Given the description of an element on the screen output the (x, y) to click on. 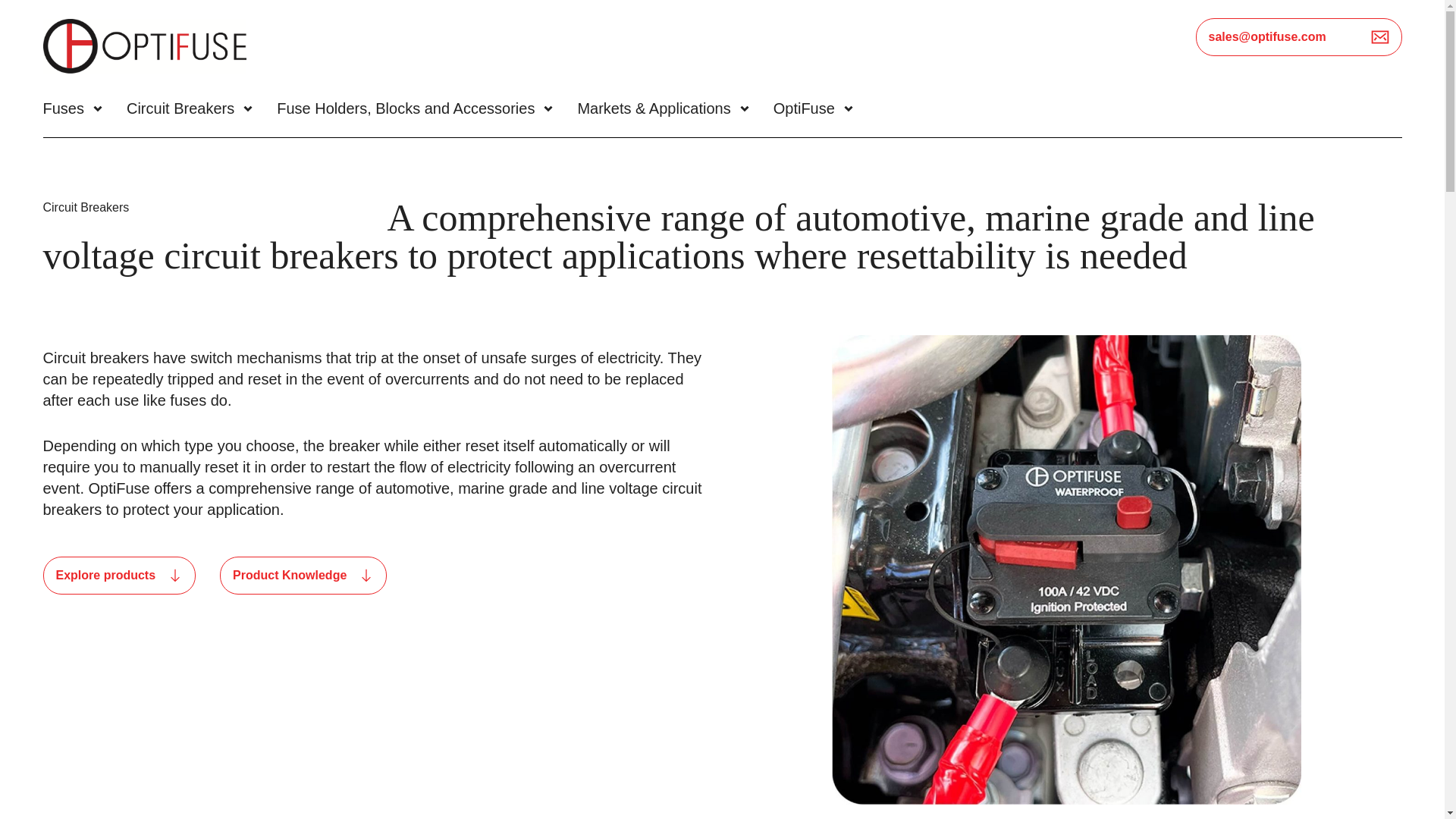
Product Knowledge (303, 575)
Explore products (118, 575)
Home (147, 48)
